Given the description of an element on the screen output the (x, y) to click on. 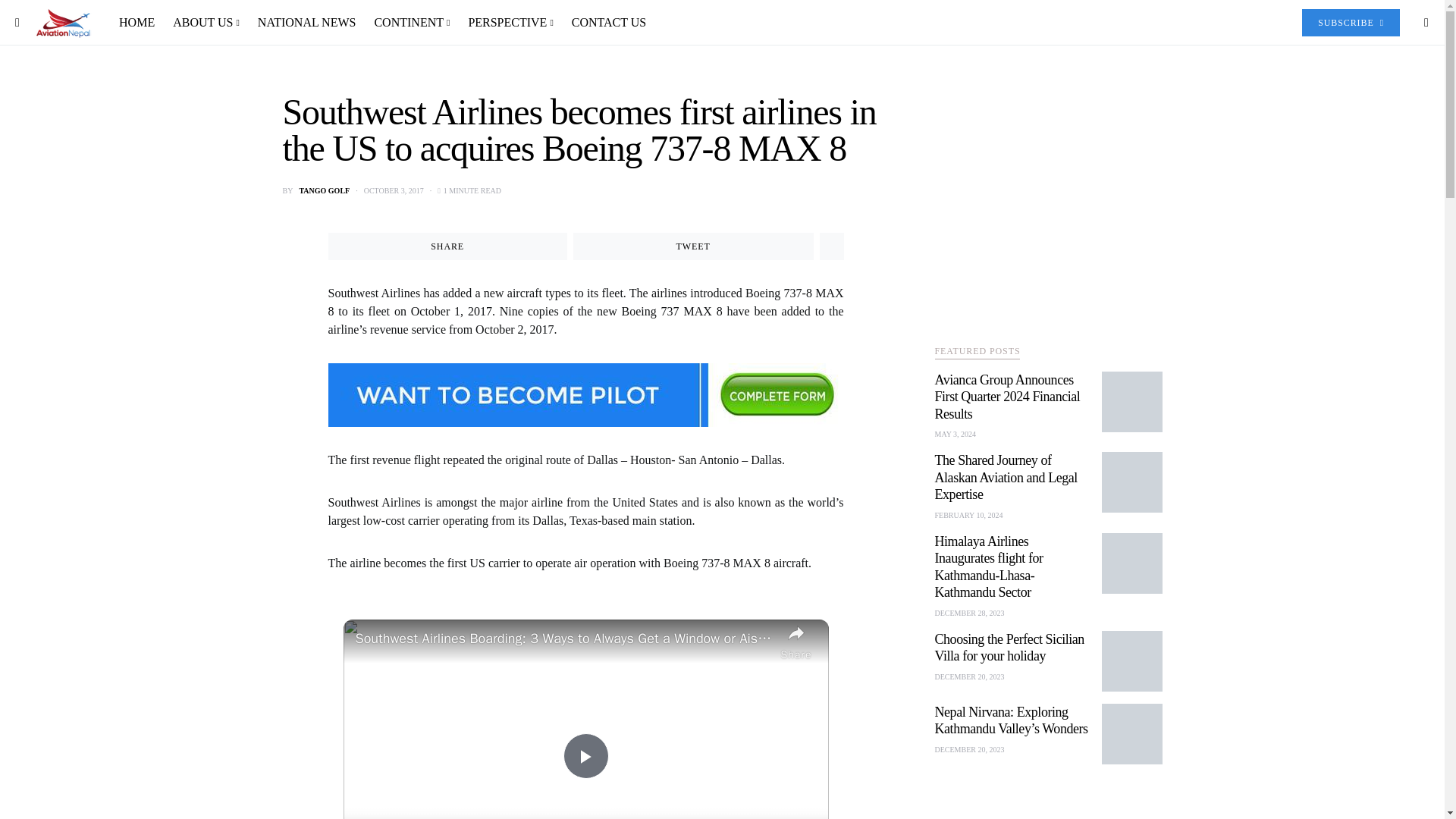
CONTACT US (604, 22)
HOME (141, 22)
CONTINENT (411, 22)
Play Video (585, 755)
View all posts by Tango Golf (323, 190)
ABOUT US (205, 22)
PERSPECTIVE (510, 22)
SUBSCRIBE (1350, 22)
TANGO GOLF (323, 190)
NATIONAL NEWS (306, 22)
